Given the description of an element on the screen output the (x, y) to click on. 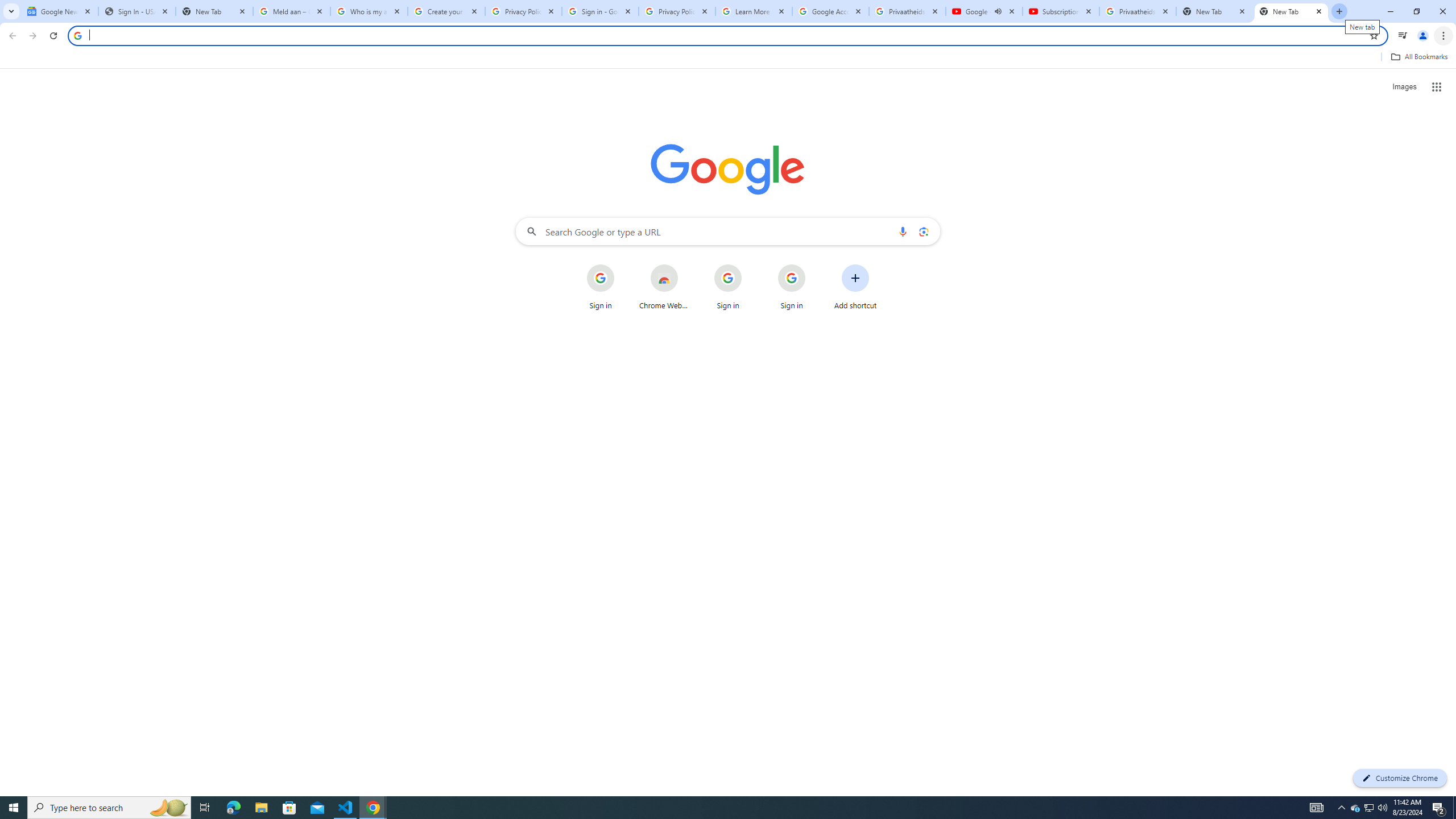
More actions for Sign in shortcut (814, 265)
